Given the description of an element on the screen output the (x, y) to click on. 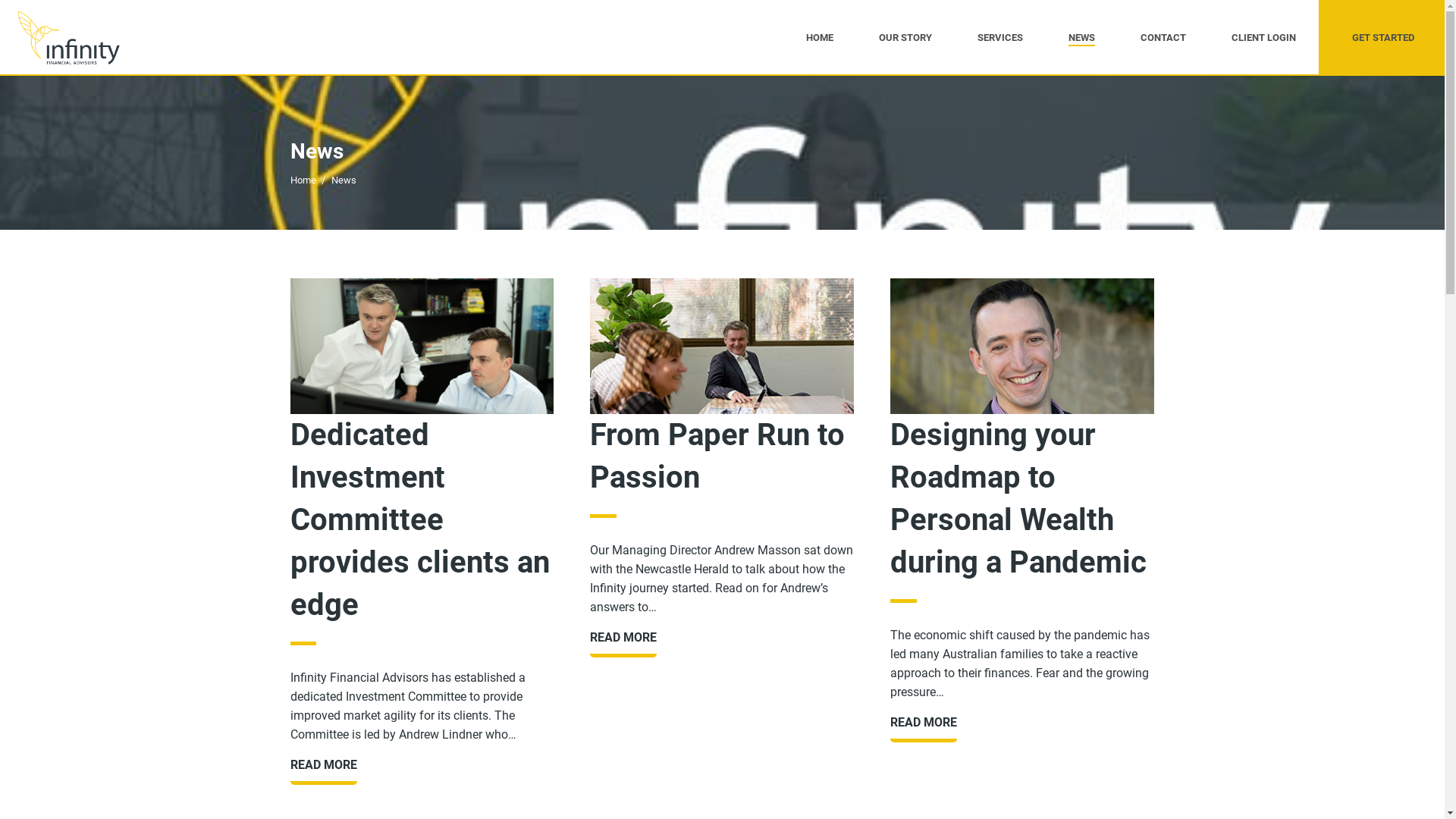
Designing your Roadmap to Personal Wealth during a Pandemic Element type: text (1018, 498)
READ MORE Element type: text (622, 636)
OUR STORY Element type: text (905, 37)
SERVICES Element type: text (999, 37)
Dedicated Investment Committee provides clients an edge Element type: text (419, 519)
CLIENT LOGIN Element type: text (1263, 37)
NEWS Element type: text (1081, 37)
CONTACT Element type: text (1162, 37)
READ MORE Element type: text (322, 763)
READ MORE Element type: text (923, 721)
GET STARTED Element type: text (1382, 37)
From Paper Run to Passion Element type: text (716, 456)
Home Element type: text (302, 179)
HOME Element type: text (819, 37)
News Element type: text (343, 179)
